Given the description of an element on the screen output the (x, y) to click on. 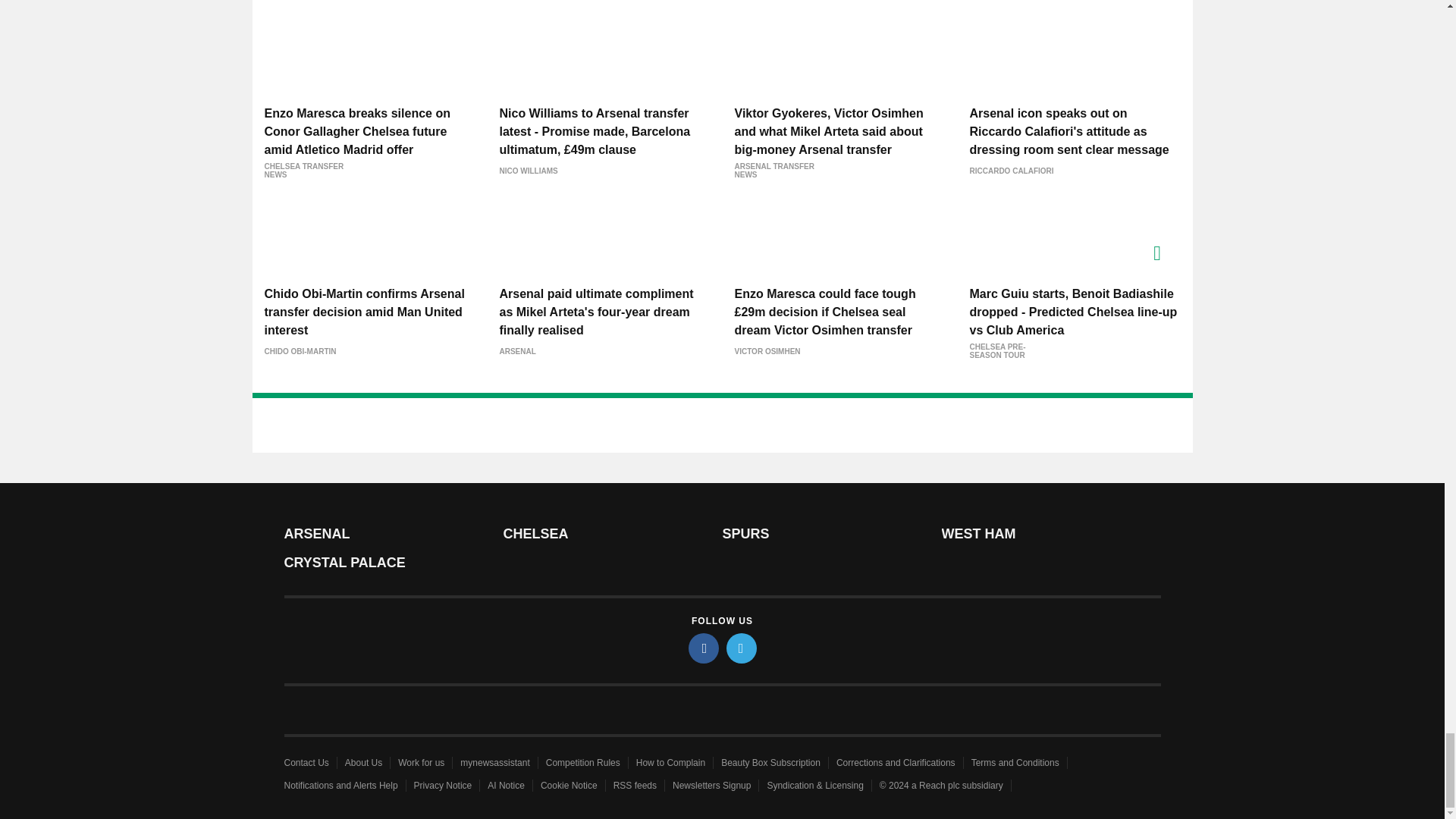
twitter (741, 648)
facebook (703, 648)
